Given the description of an element on the screen output the (x, y) to click on. 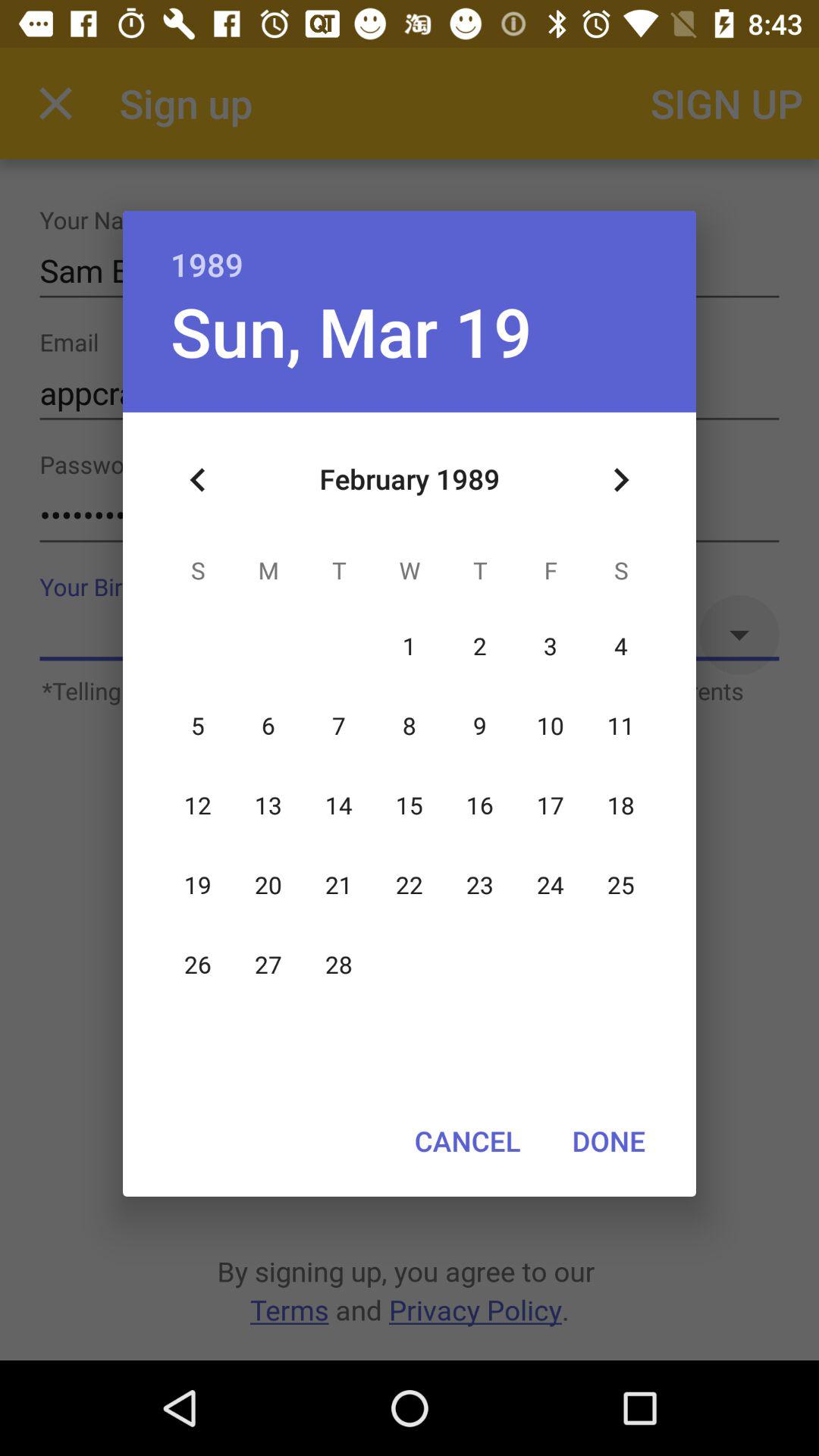
tap item at the top right corner (620, 479)
